Given the description of an element on the screen output the (x, y) to click on. 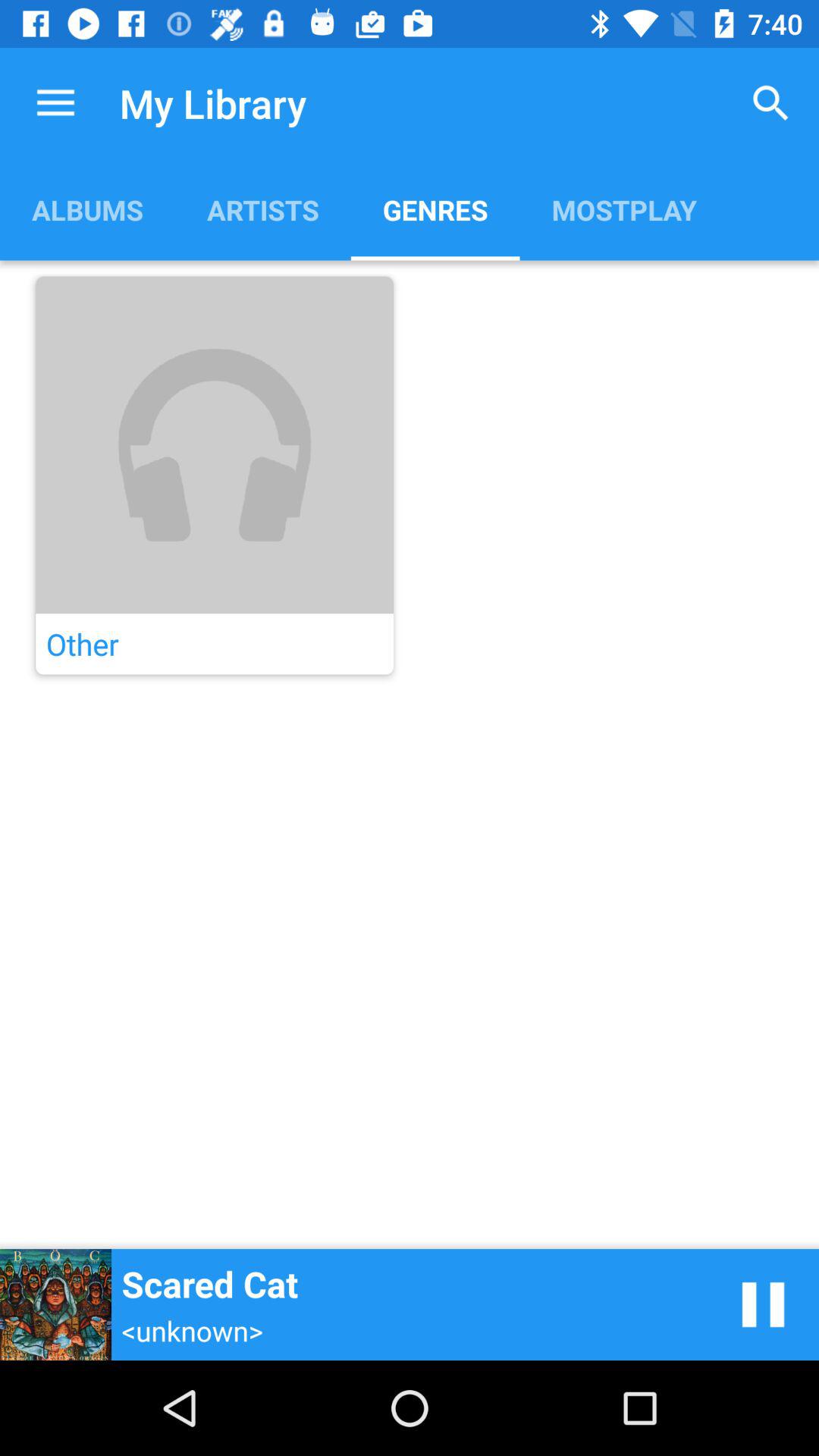
tap the mostplay app (623, 209)
